Given the description of an element on the screen output the (x, y) to click on. 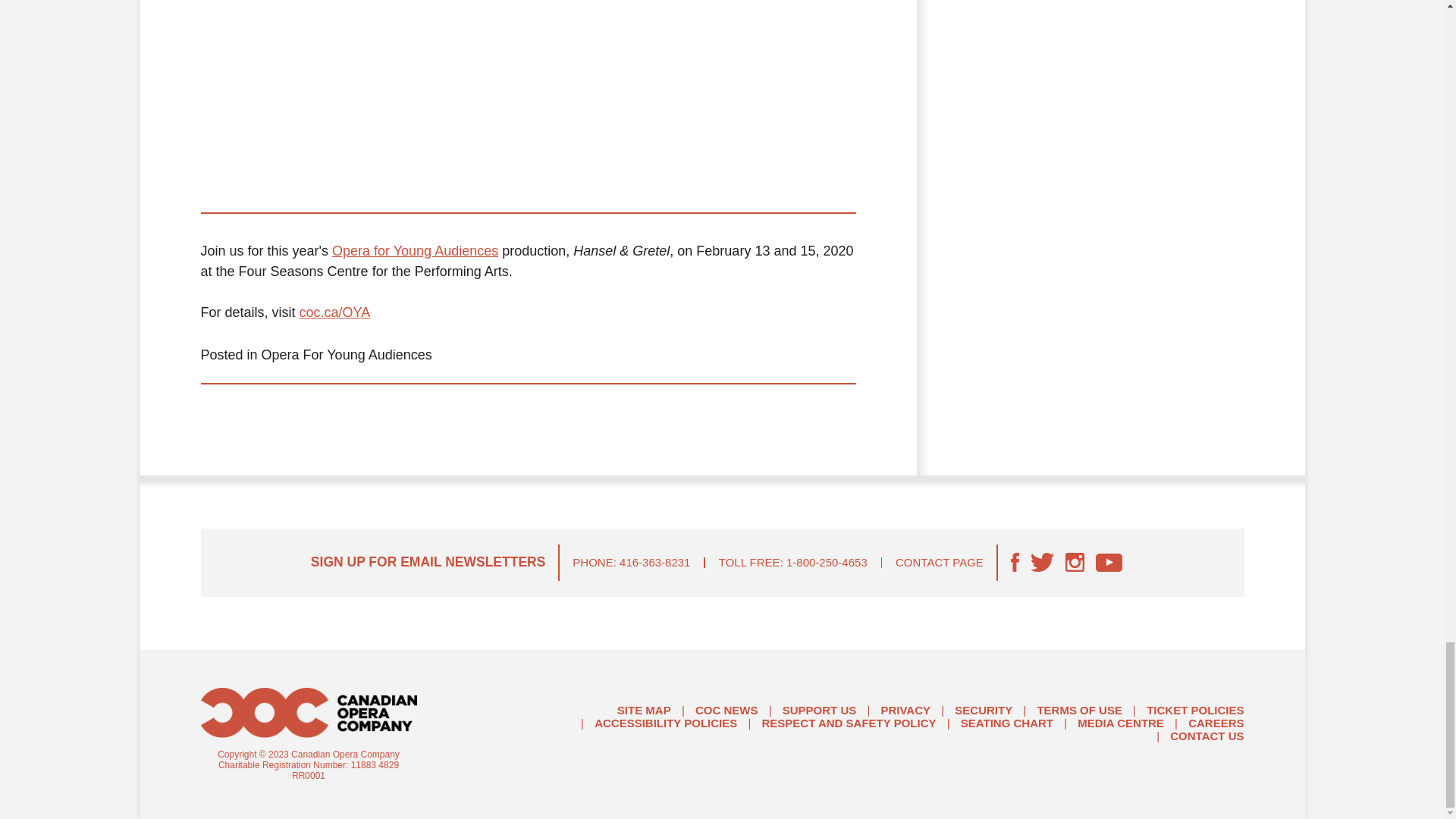
Opera for Young Audiences (414, 249)
Opera For Young Audiences (347, 354)
